Given the description of an element on the screen output the (x, y) to click on. 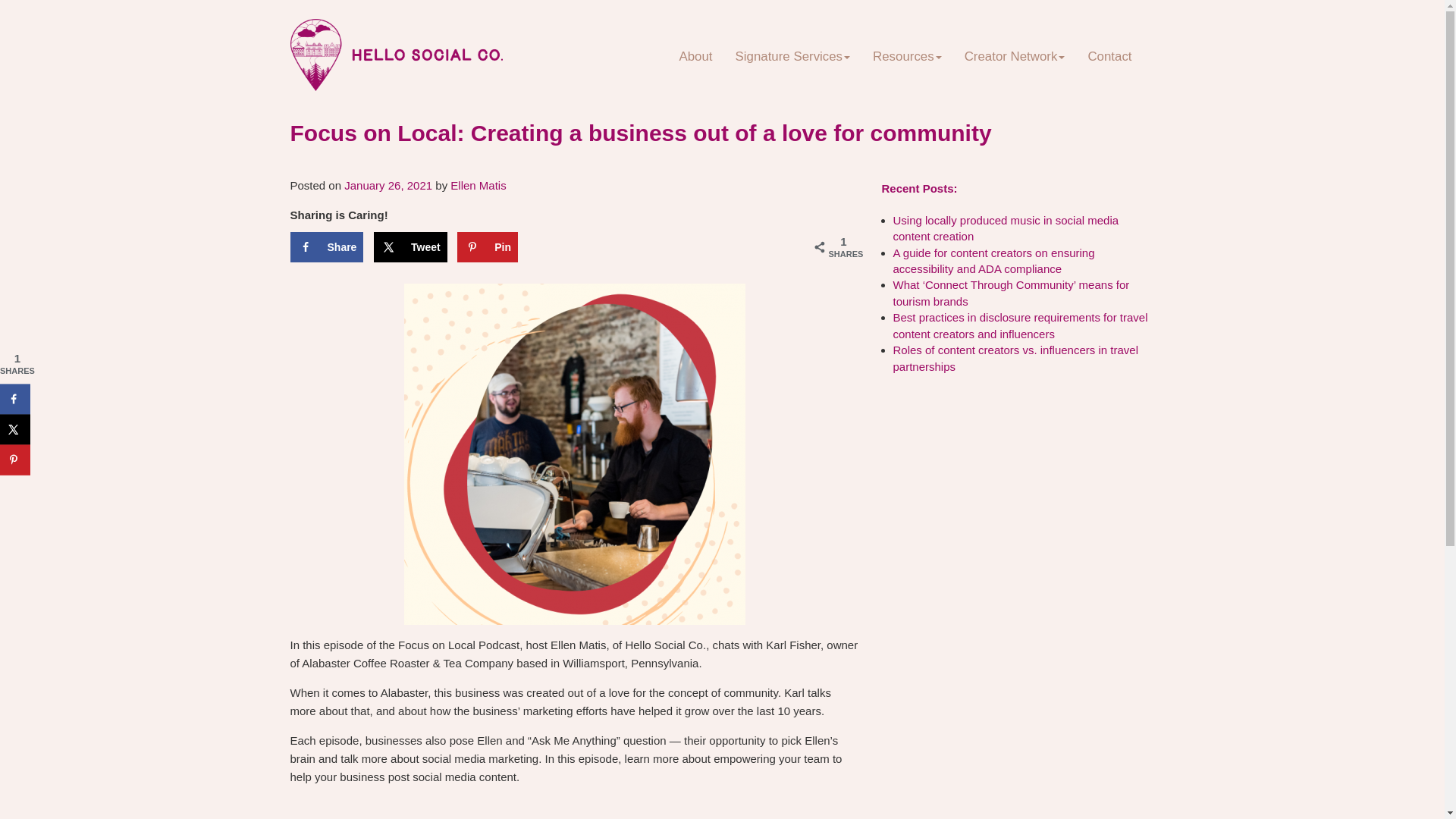
Hello Social Co. (401, 51)
Save to Pinterest (15, 459)
View all posts by Ellen Matis (477, 185)
Save to Pinterest (487, 246)
Share on X (410, 246)
Contact (1108, 56)
Share (325, 246)
Creator Network (1015, 56)
3:57 pm (387, 185)
Ellen Matis (477, 185)
January 26, 2021 (387, 185)
Share on X (15, 429)
